Given the description of an element on the screen output the (x, y) to click on. 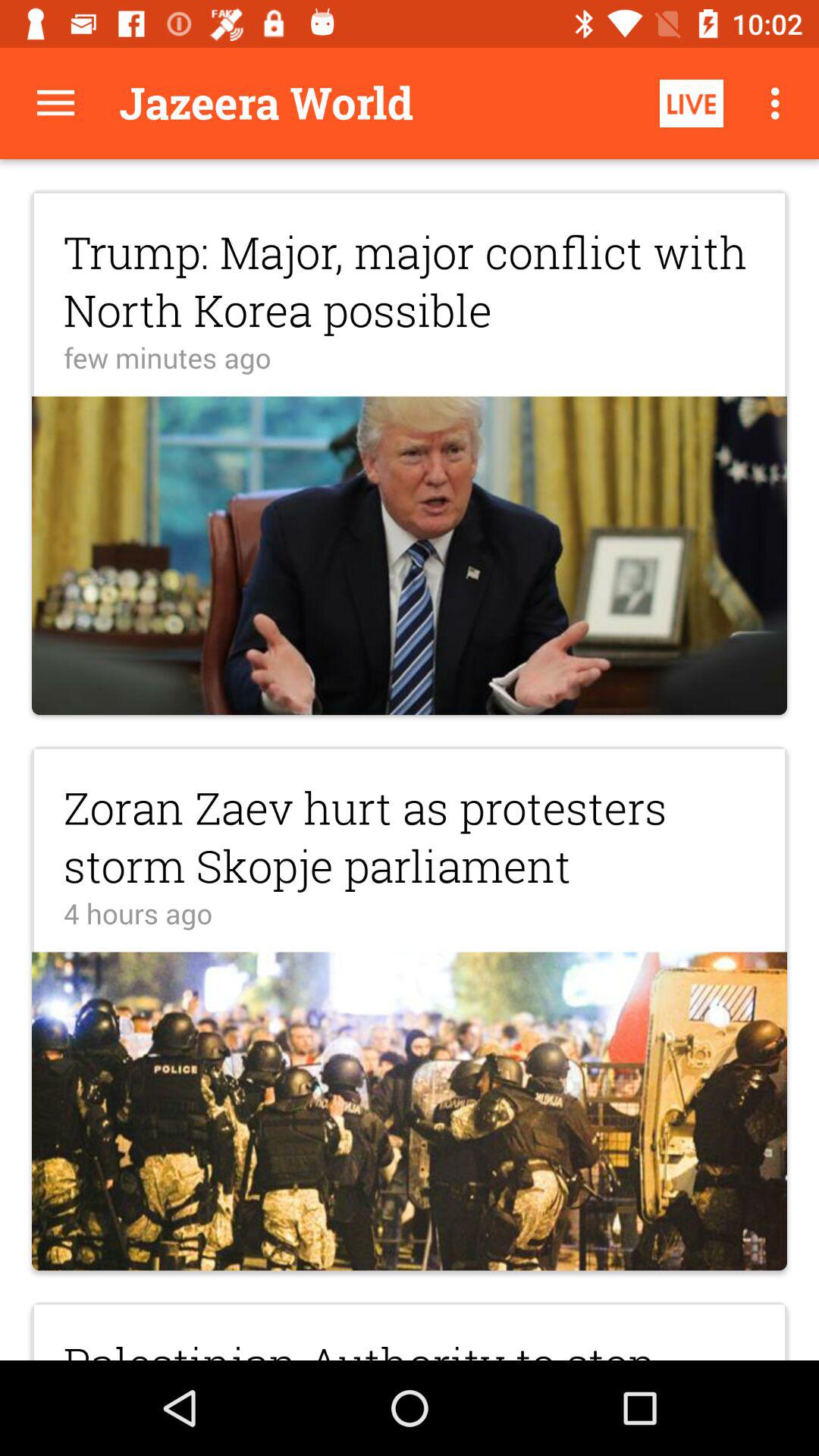
launch icon above the trump major major item (779, 103)
